Given the description of an element on the screen output the (x, y) to click on. 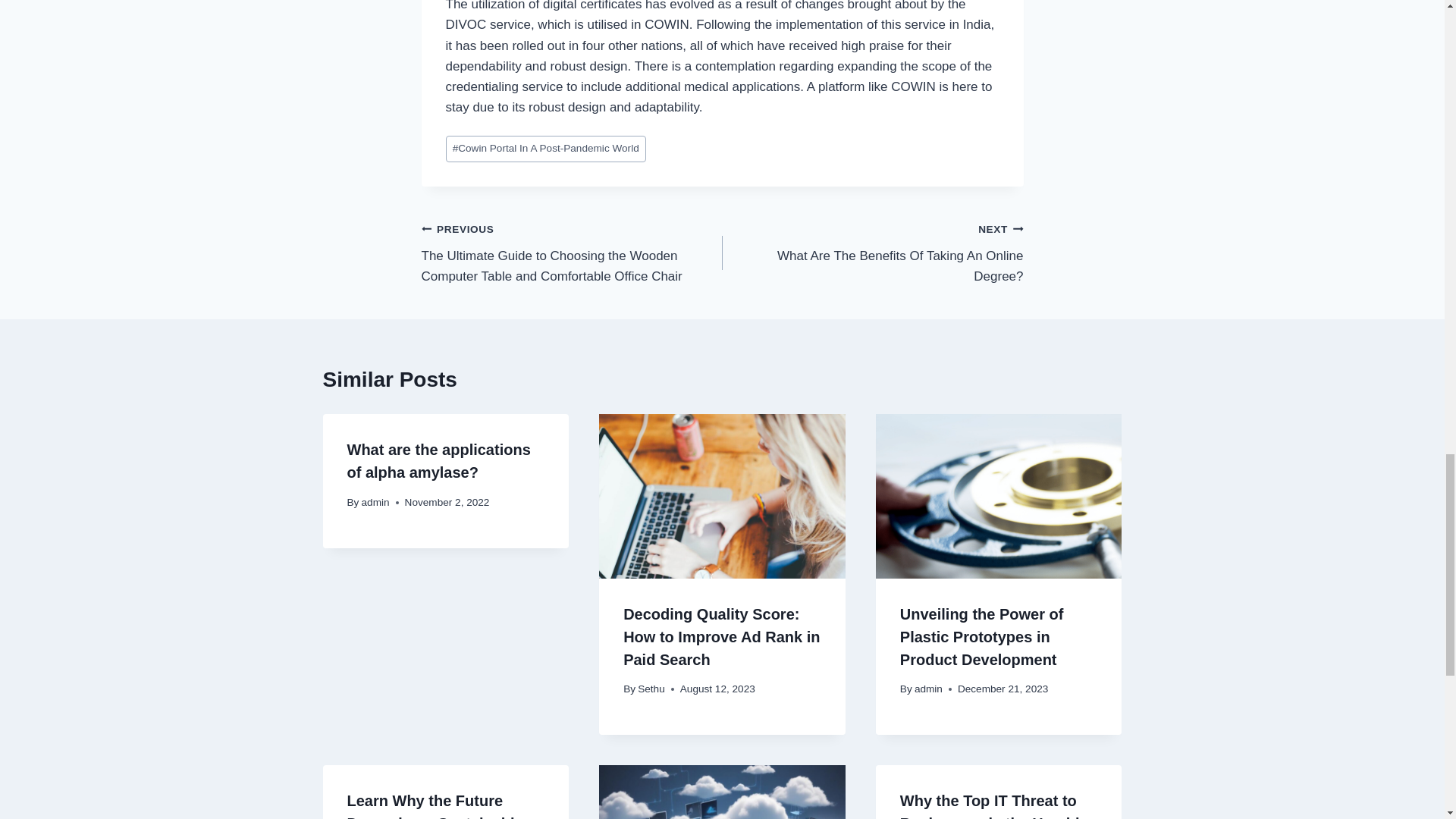
Cowin Portal In A Post-Pandemic World (545, 148)
admin (872, 252)
Sethu (928, 688)
admin (651, 688)
What are the applications of alpha amylase? (375, 501)
